Given the description of an element on the screen output the (x, y) to click on. 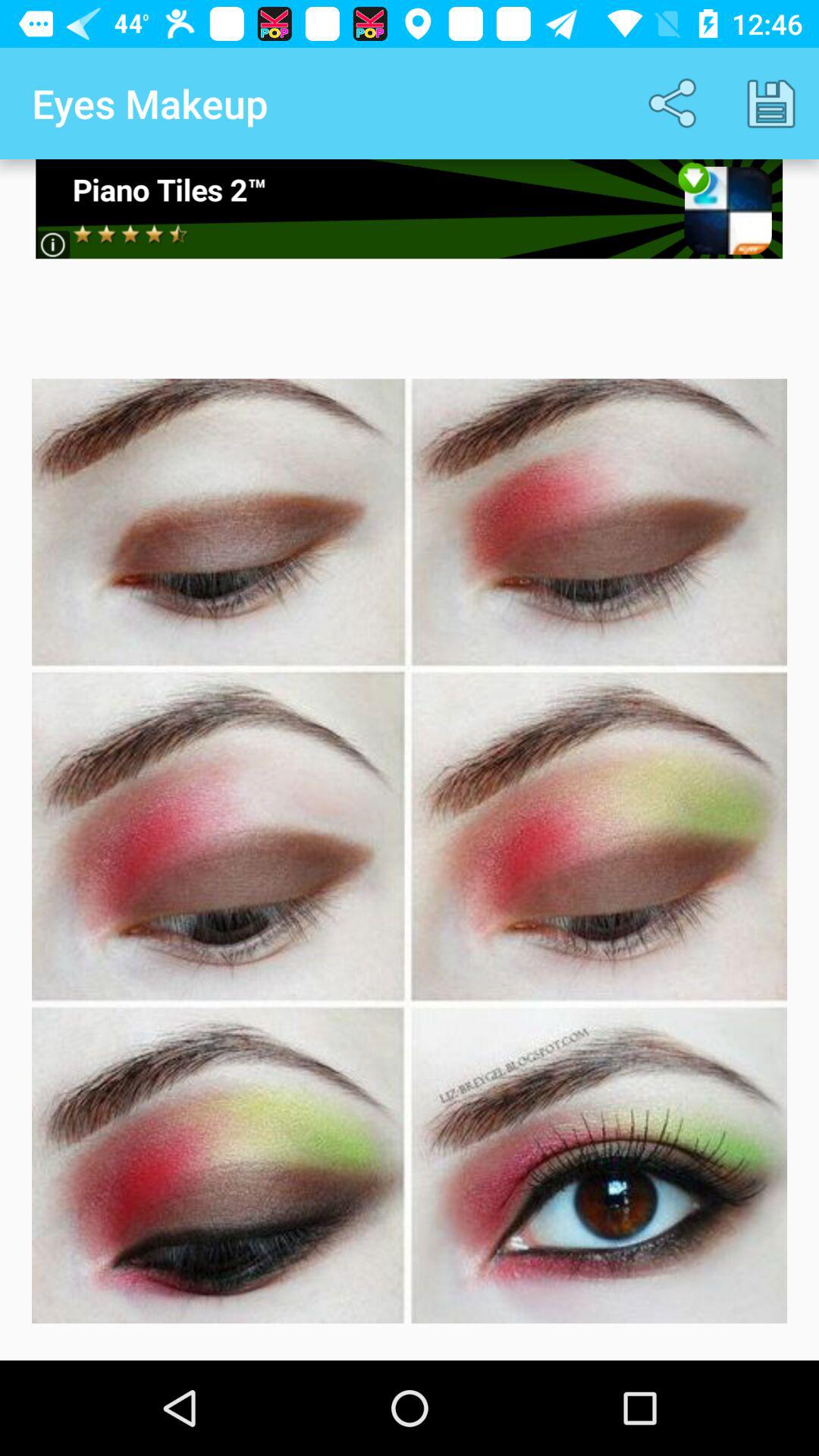
turn off the icon to the right of the eyes makeup app (675, 103)
